Given the description of an element on the screen output the (x, y) to click on. 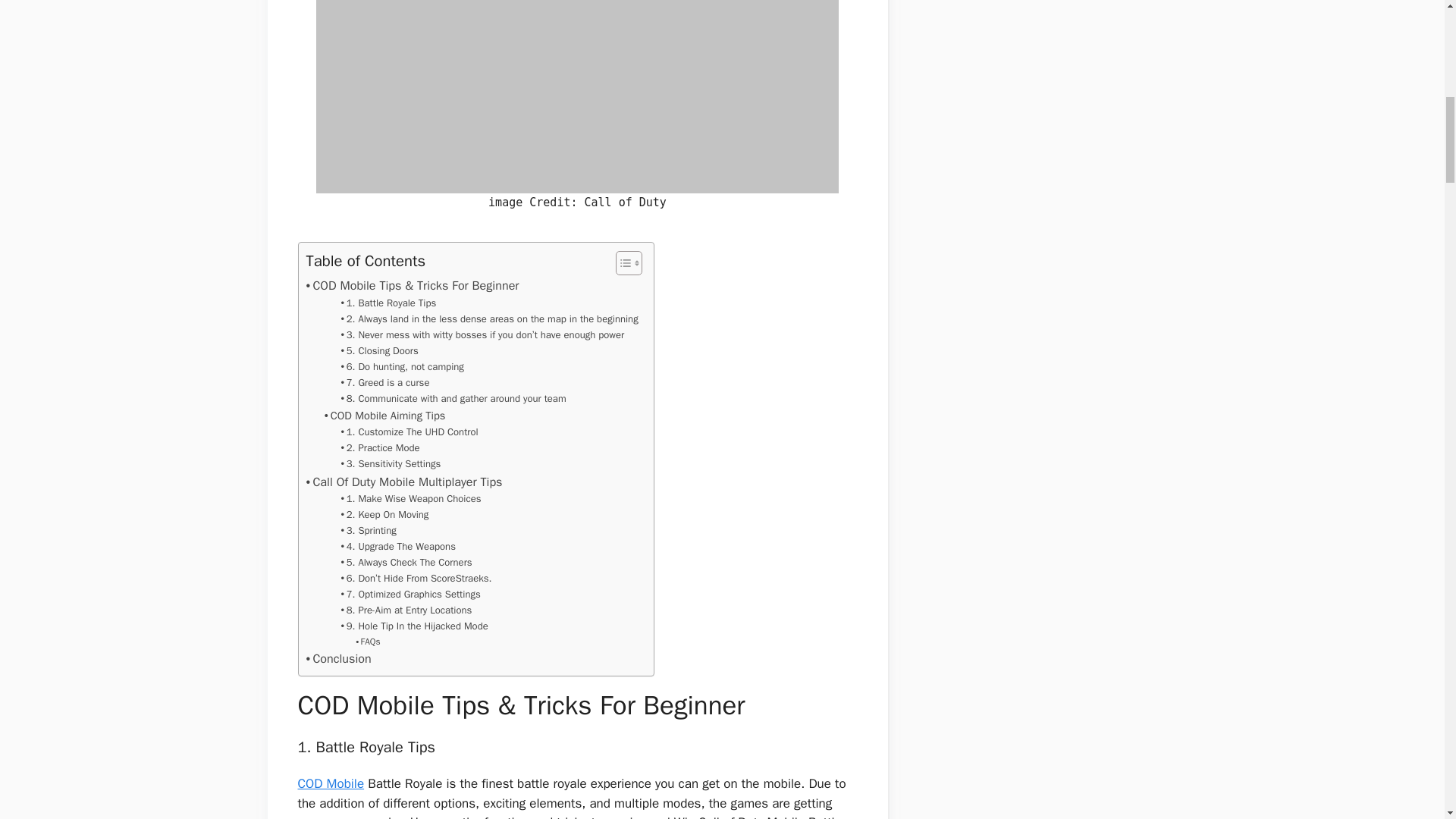
8. Communicate with and gather around your team (453, 399)
6. Do hunting, not camping (402, 367)
COD Mobile Aiming Tips (384, 416)
1. Battle Royale Tips (388, 303)
7. Greed is a curse (384, 383)
8. Communicate with and gather around your team (453, 399)
7. Greed is a curse (384, 383)
5. Closing Doors (379, 351)
